Given the description of an element on the screen output the (x, y) to click on. 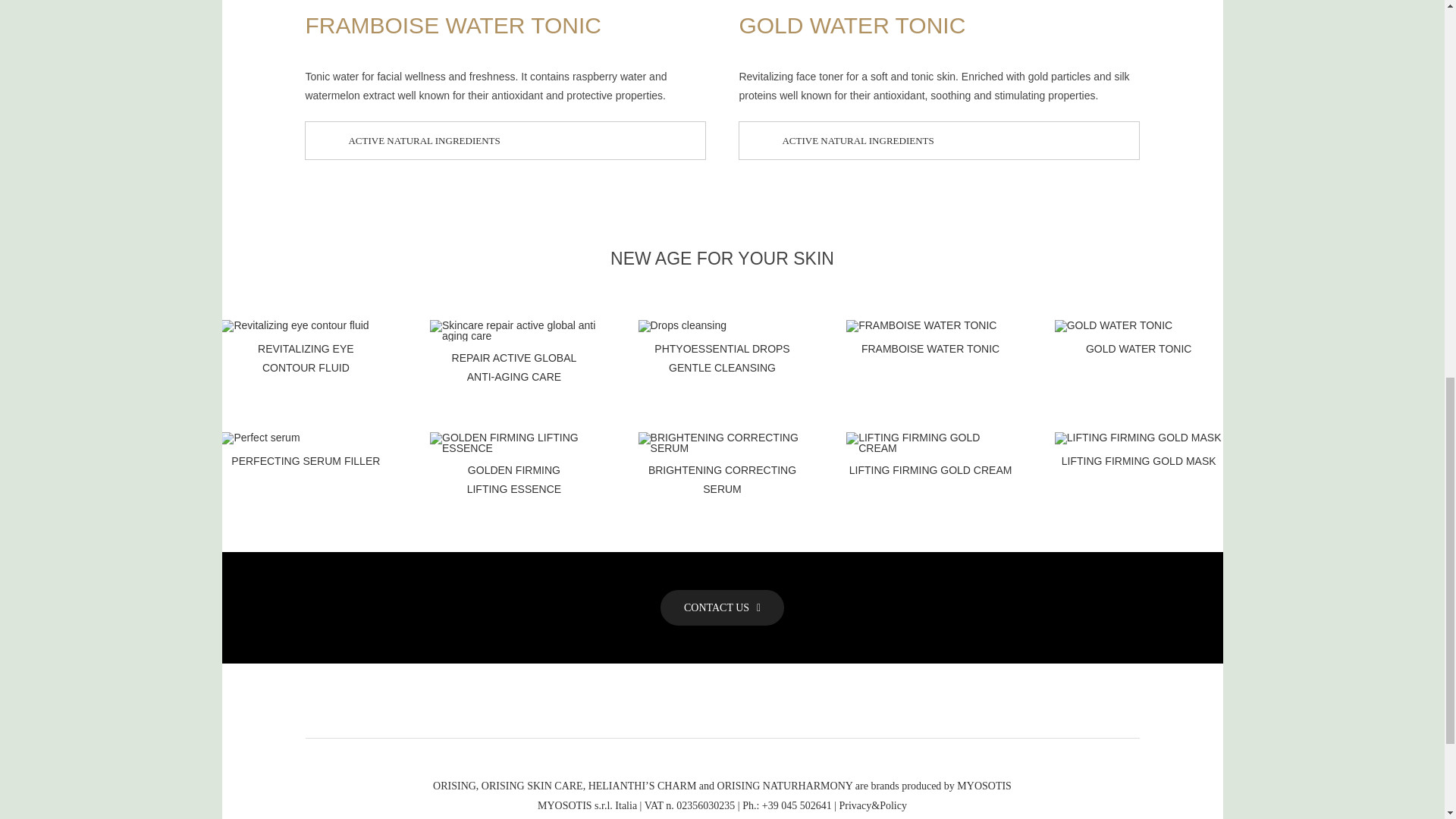
CONTACT US (722, 607)
